Given the description of an element on the screen output the (x, y) to click on. 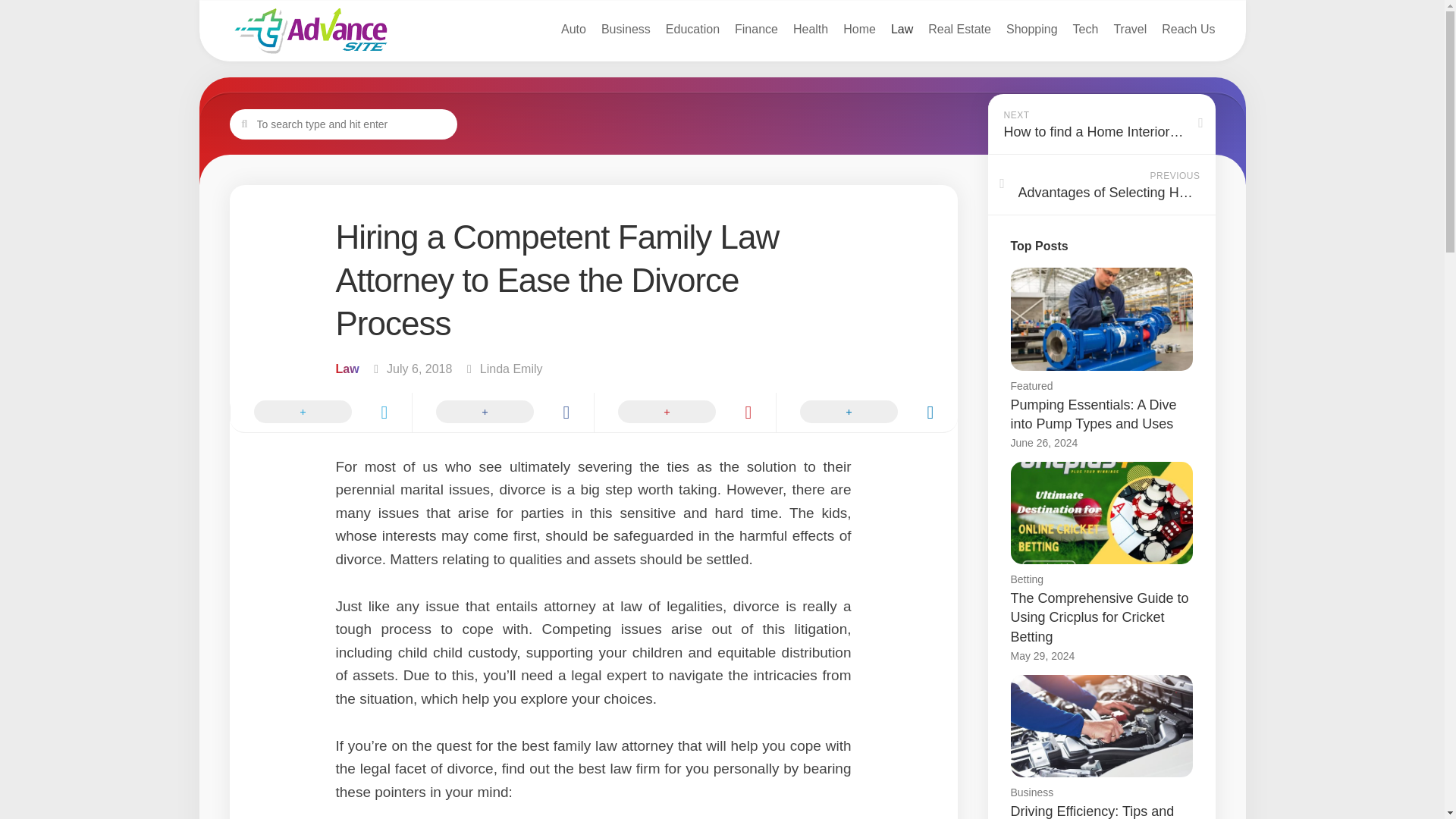
To search type and hit enter (342, 123)
Education (692, 29)
Finance (756, 29)
Featured (1031, 386)
Home (859, 29)
Share on Facebook (501, 412)
Auto (573, 29)
Travel (1130, 29)
